Given the description of an element on the screen output the (x, y) to click on. 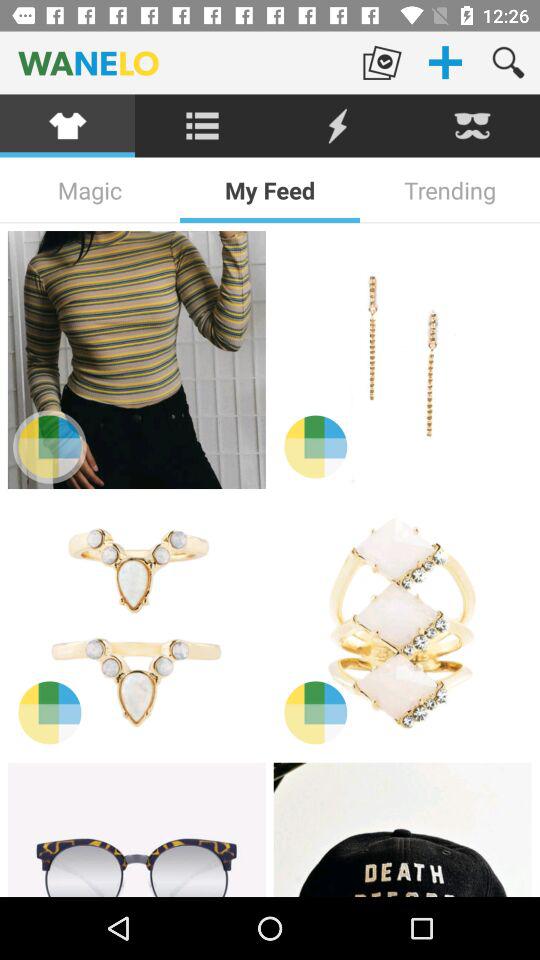
click the icon to the left of trending icon (270, 190)
